Given the description of an element on the screen output the (x, y) to click on. 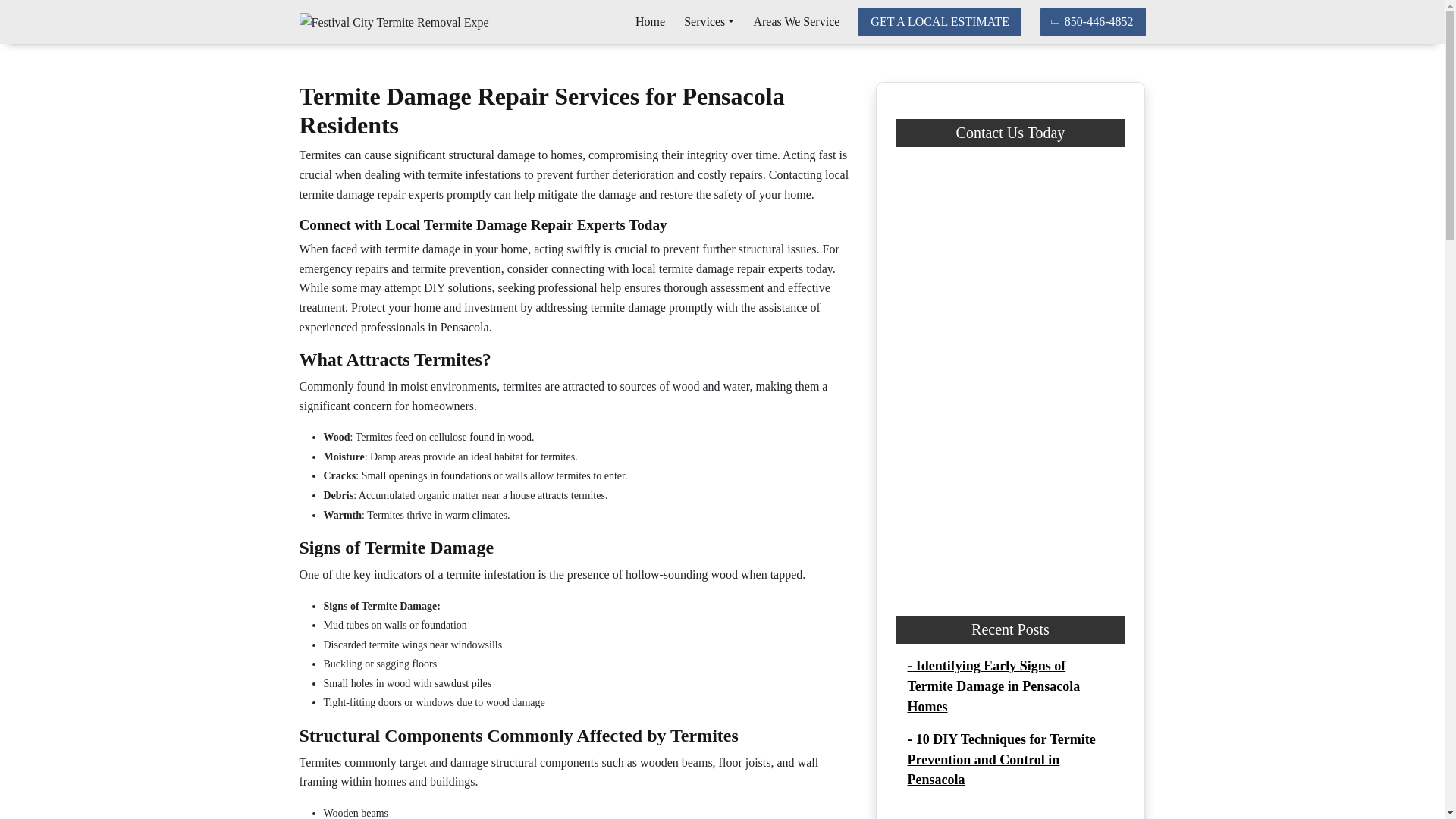
Services (708, 21)
Areas We Service (796, 21)
850-446-4852 (1093, 21)
GET A LOCAL ESTIMATE (940, 21)
Home (649, 21)
Home (649, 21)
Services (708, 21)
Areas We Service (796, 21)
